Given the description of an element on the screen output the (x, y) to click on. 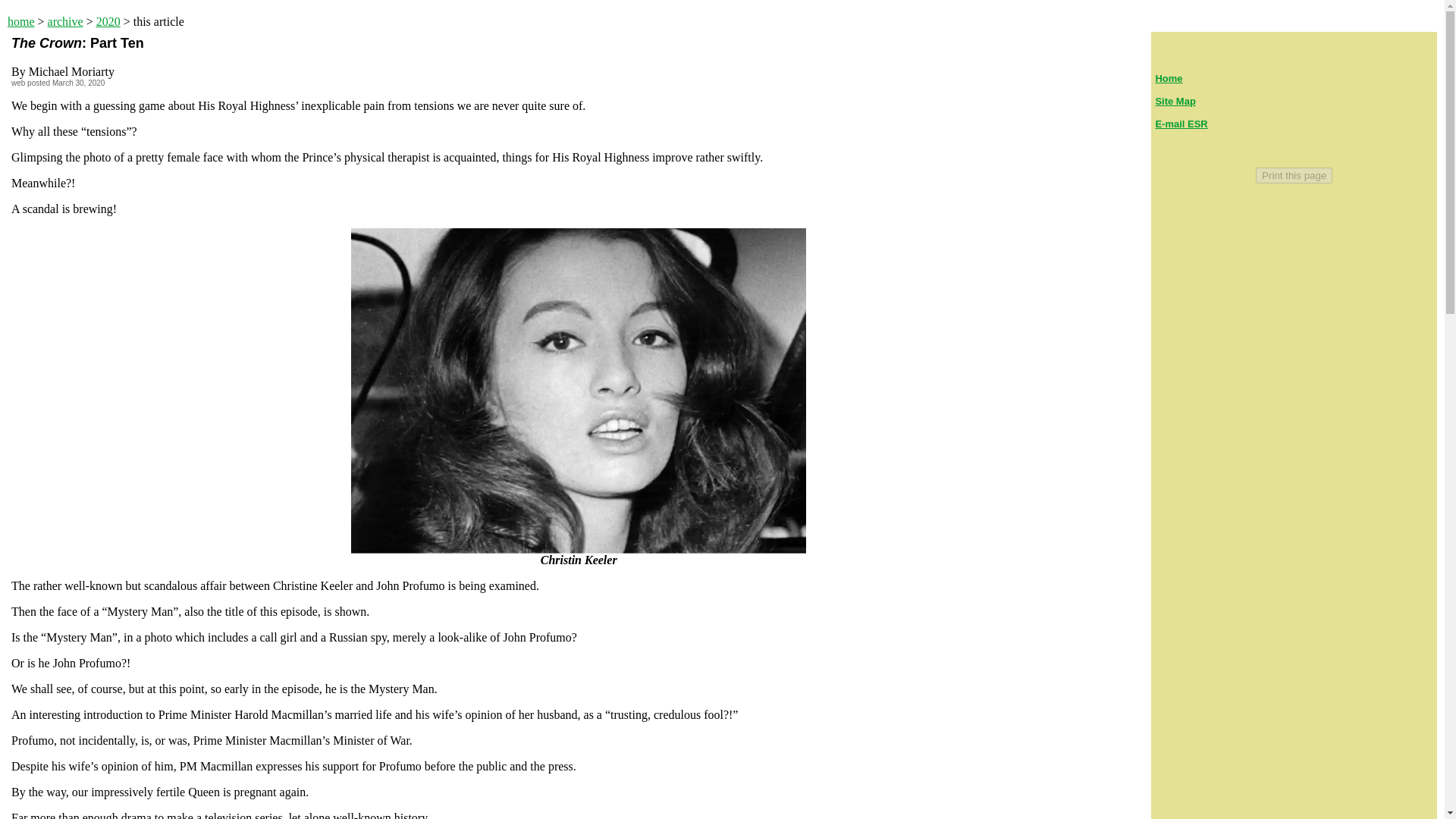
archive (65, 21)
Site Map (1174, 101)
2020 (108, 21)
E-mail ESR (1180, 123)
Home (1168, 78)
home (20, 21)
Print this page (1293, 175)
